Given the description of an element on the screen output the (x, y) to click on. 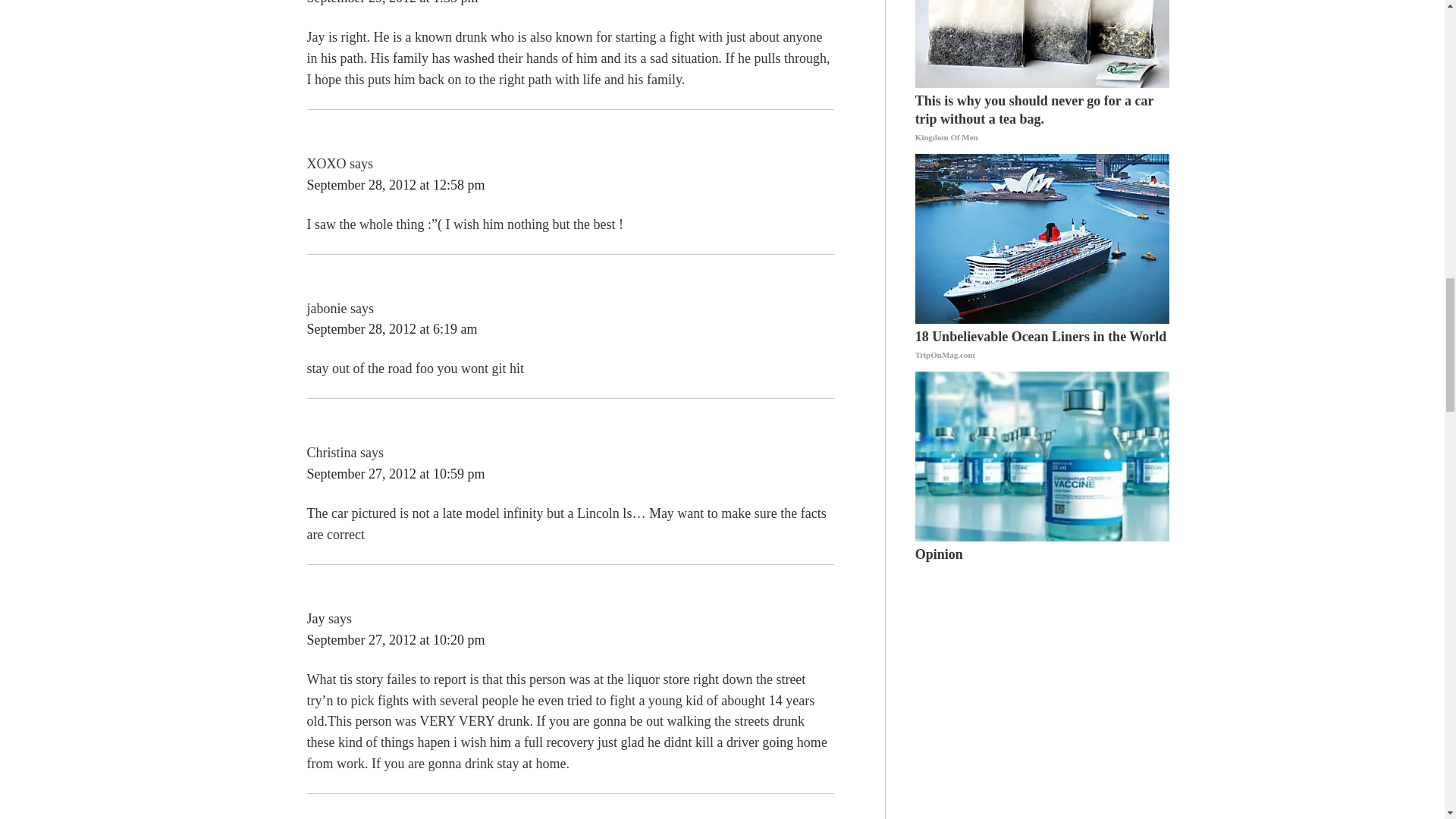
September 28, 2012 at 6:19 am (391, 328)
September 29, 2012 at 1:35 pm (391, 2)
September 27, 2012 at 10:59 pm (394, 473)
September 27, 2012 at 10:20 pm (394, 639)
September 28, 2012 at 12:58 pm (394, 184)
Jay (314, 618)
